Given the description of an element on the screen output the (x, y) to click on. 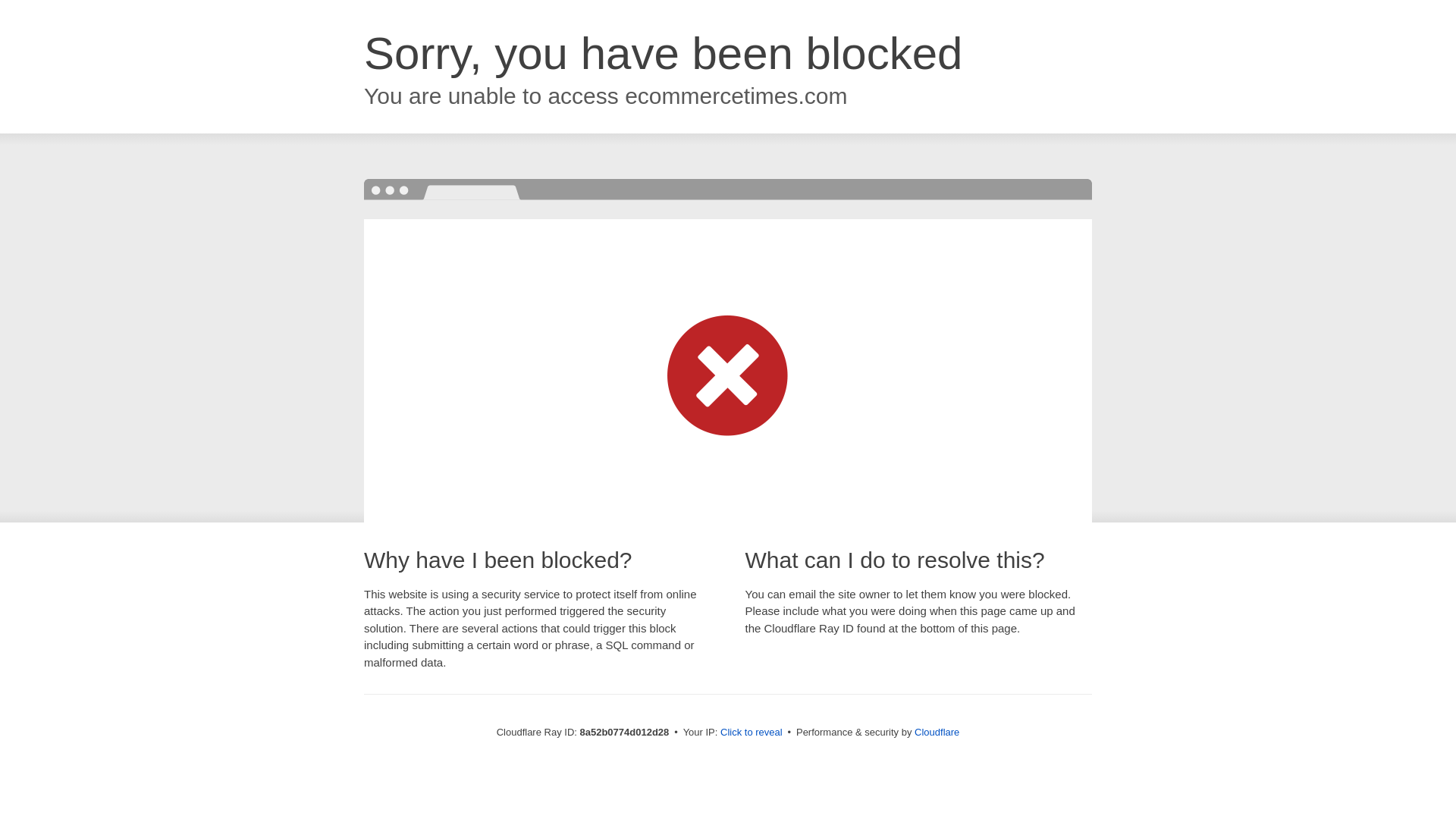
Cloudflare (936, 731)
Click to reveal (751, 732)
